Given the description of an element on the screen output the (x, y) to click on. 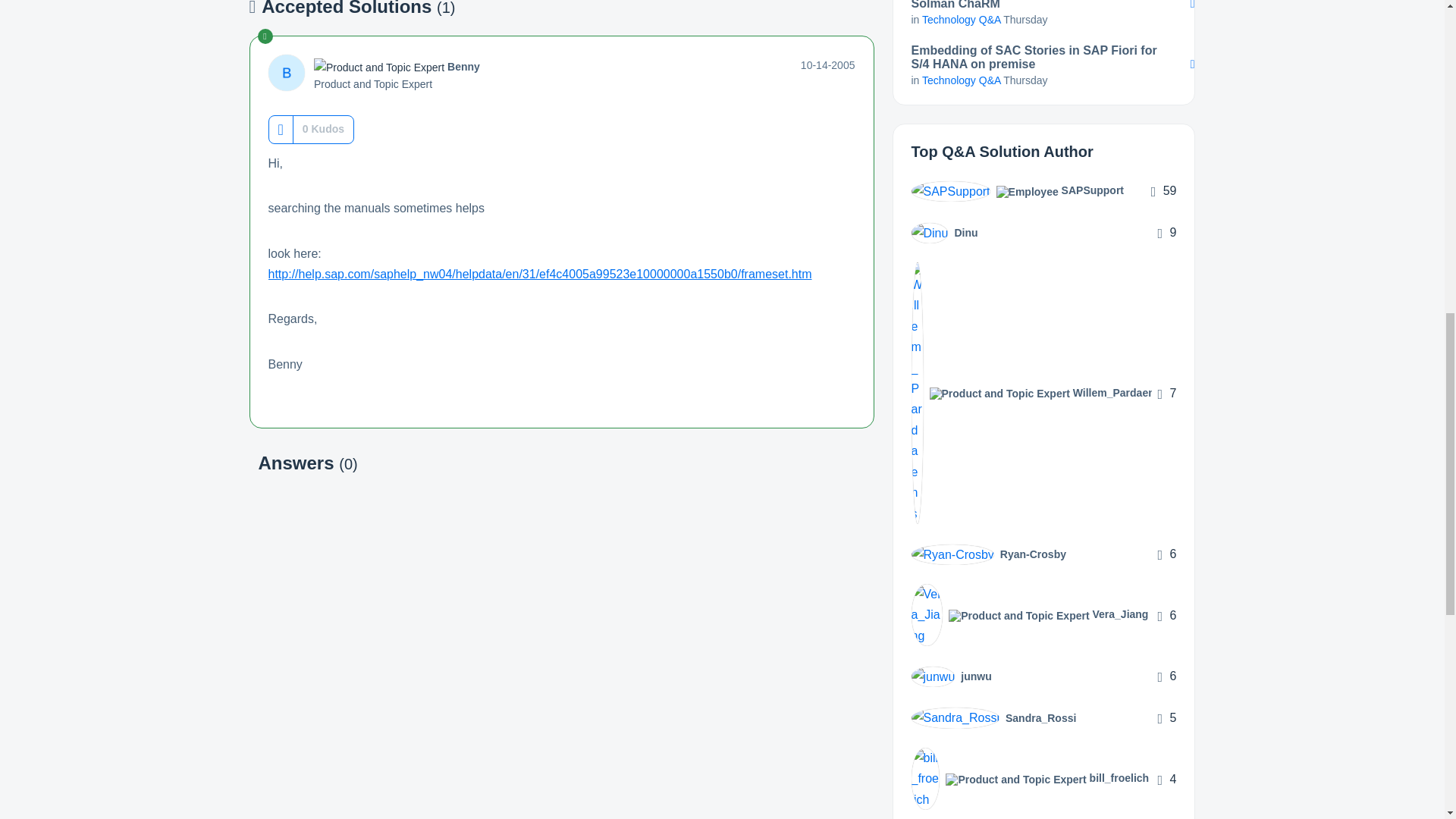
Product and Topic Expert (379, 67)
Benny (285, 72)
Benny (463, 66)
